Given the description of an element on the screen output the (x, y) to click on. 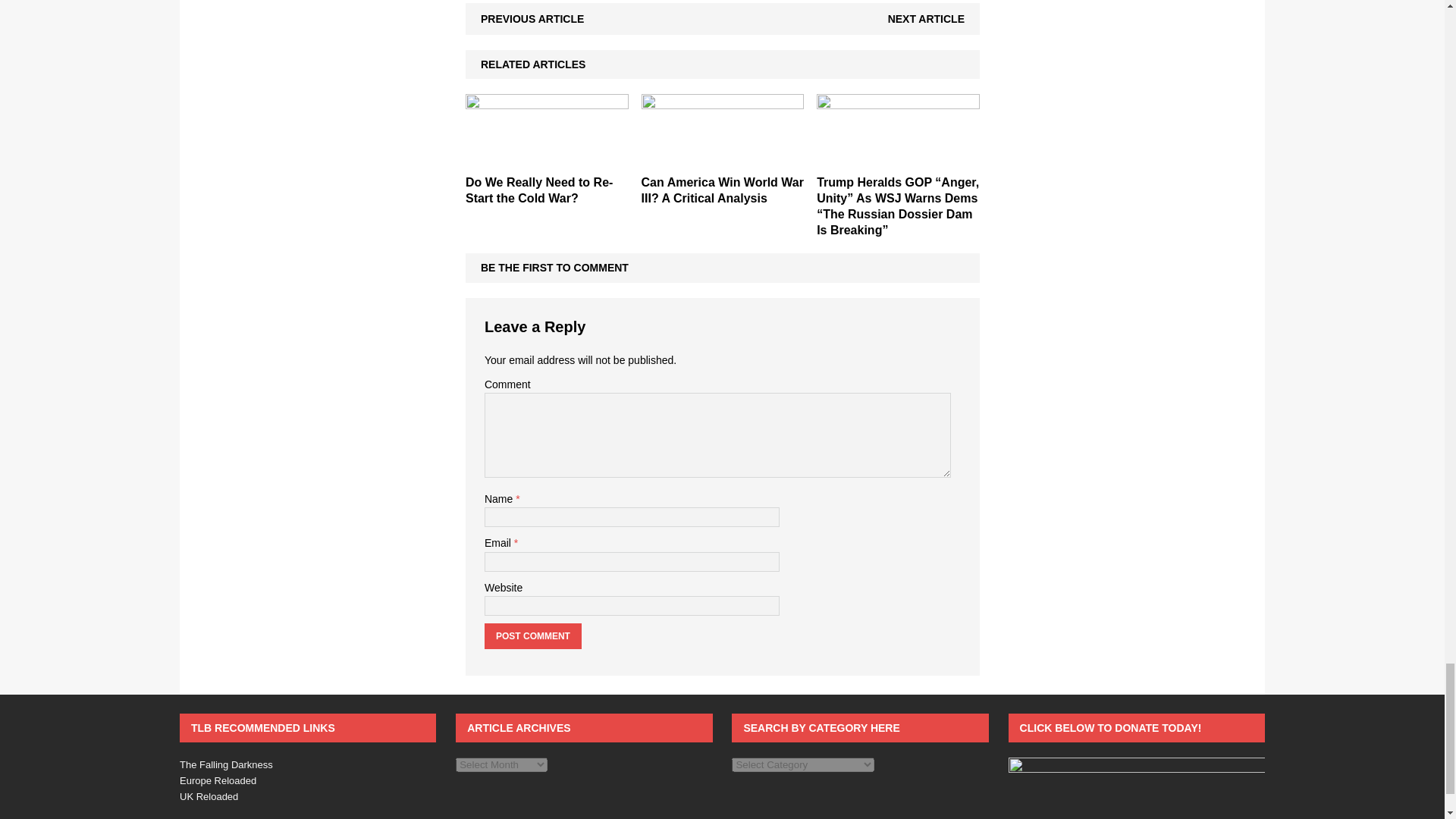
Can America Win World War III? A Critical Analysis (722, 190)
Post Comment (532, 636)
Do We Really Need to Re-Start the Cold War? (546, 159)
Do We Really Need to Re-Start the Cold War? (538, 190)
Can America Win World War III? A Critical Analysis (723, 159)
